Given the description of an element on the screen output the (x, y) to click on. 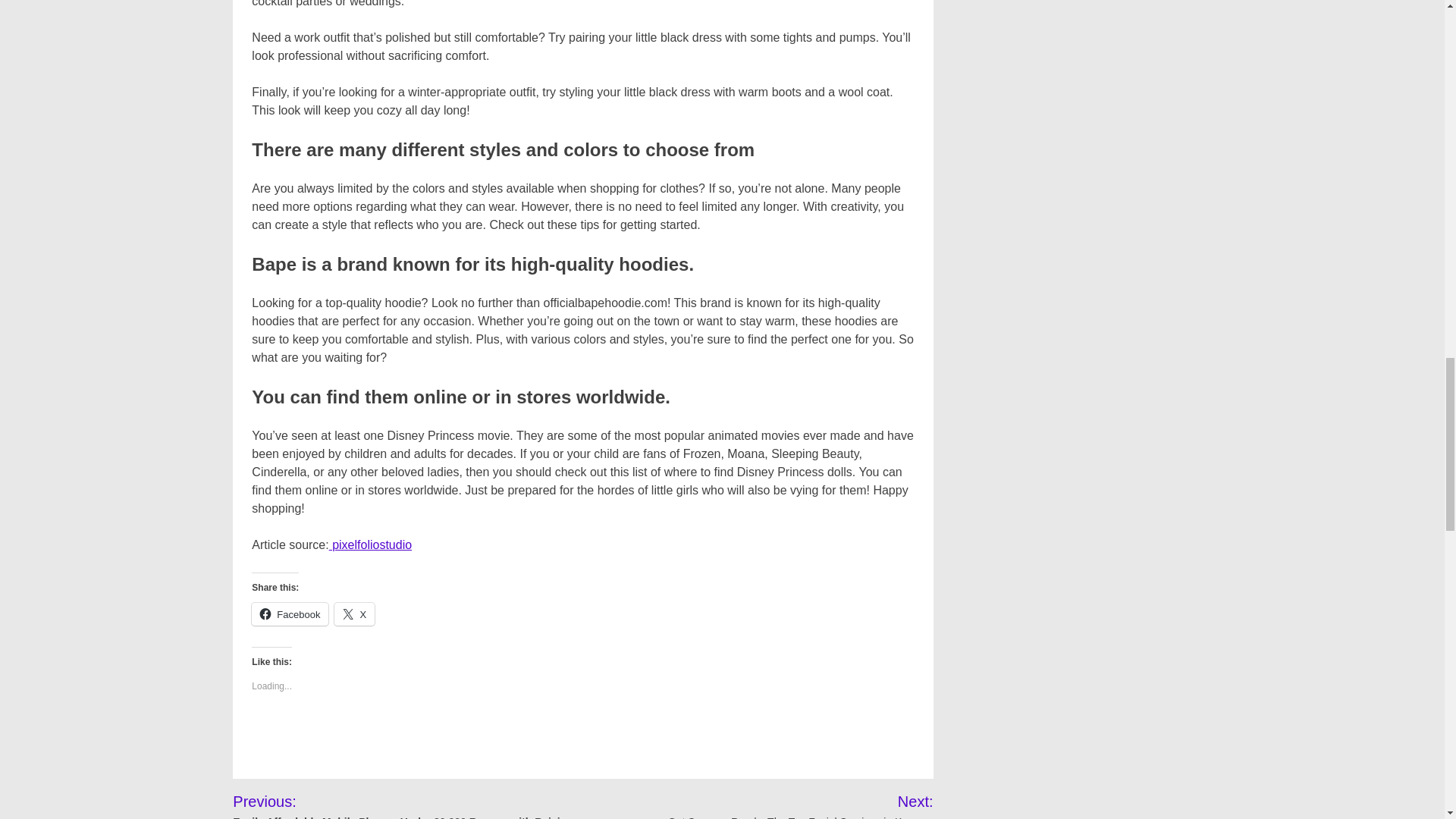
pixelfoliostudio (370, 544)
X (354, 613)
Click to share on X (354, 613)
Click to share on Facebook (290, 613)
Like or Reblog (582, 739)
Facebook (290, 613)
Next: Get Summer Ready: The Top Facial Services in Kawana (780, 804)
